Given the description of an element on the screen output the (x, y) to click on. 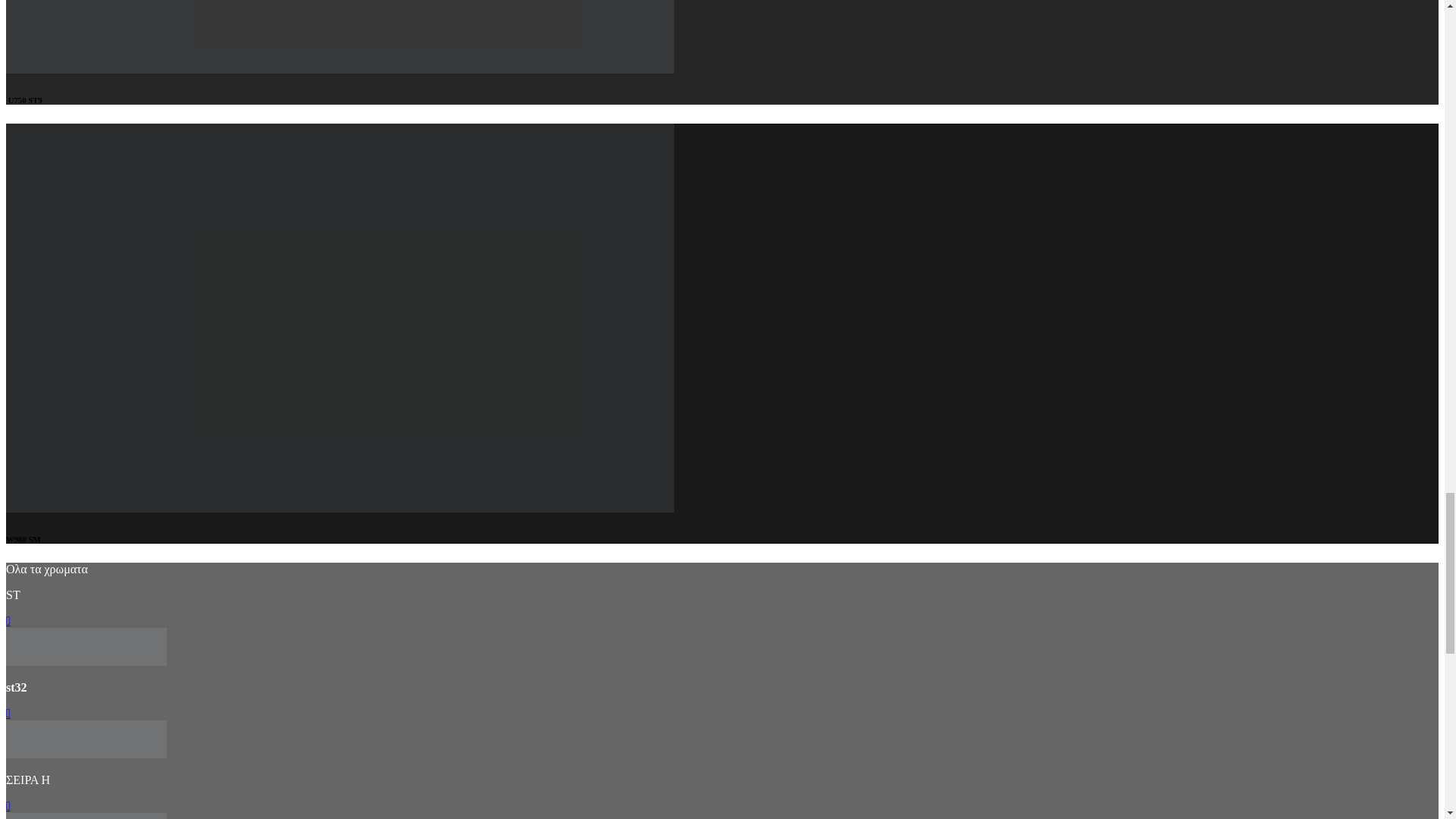
Platinum White W980 SM (339, 508)
Taupe Grey U750 ST9 (339, 69)
epi lt50 (86, 739)
Taupe Grey U750 ST9 (339, 36)
epi lt50 (86, 661)
epi lt50 (86, 816)
epi lt50 (86, 646)
epi lt50 (86, 753)
